Given the description of an element on the screen output the (x, y) to click on. 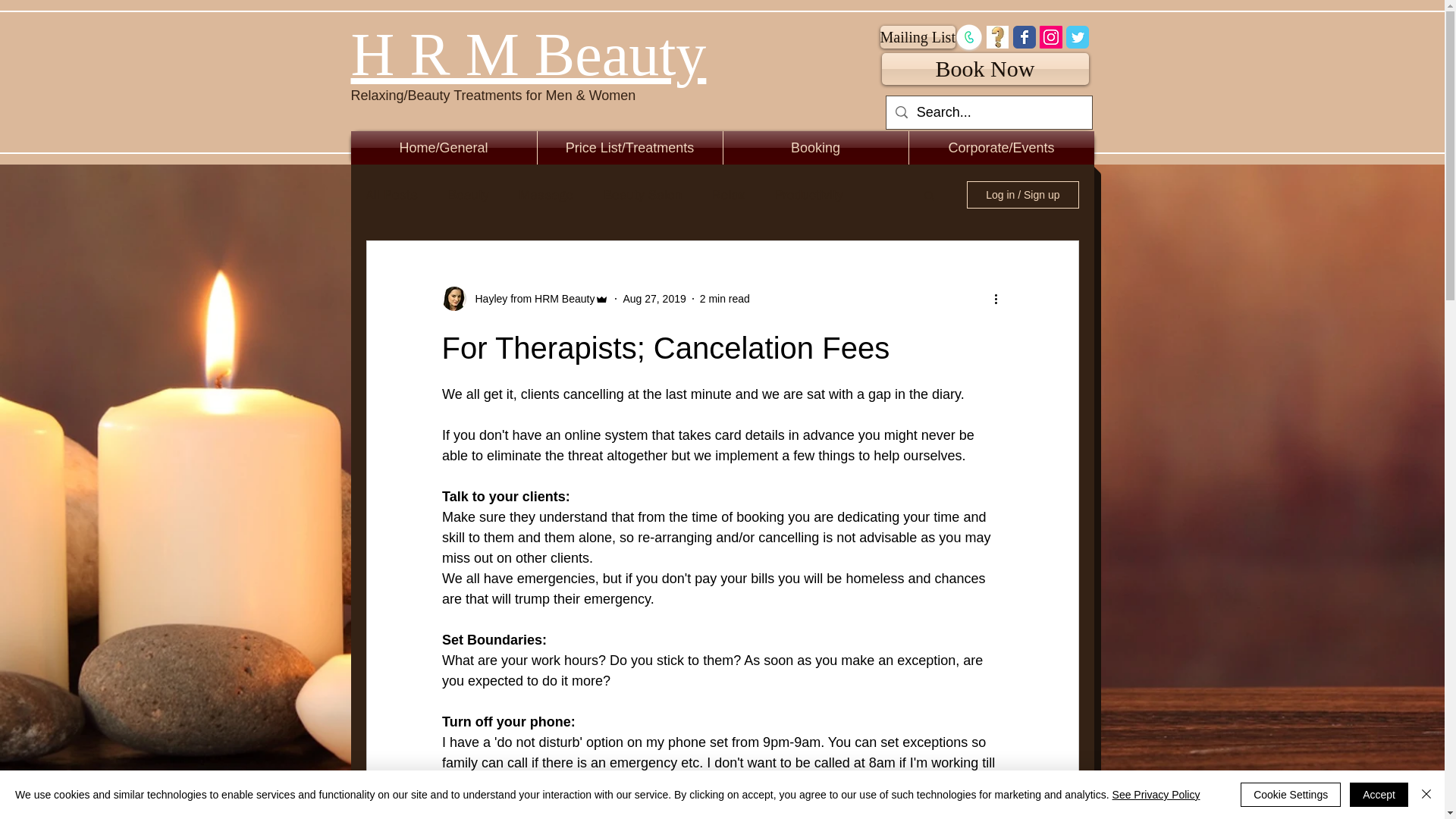
2 min read (724, 298)
Hayley from HRM Beauty (529, 299)
Embedded Content (74, 29)
Booking (815, 147)
H R M Beauty (528, 54)
Aug 27, 2019 (654, 298)
Call (967, 37)
Mailing List (917, 36)
Book Now (983, 69)
